Given the description of an element on the screen output the (x, y) to click on. 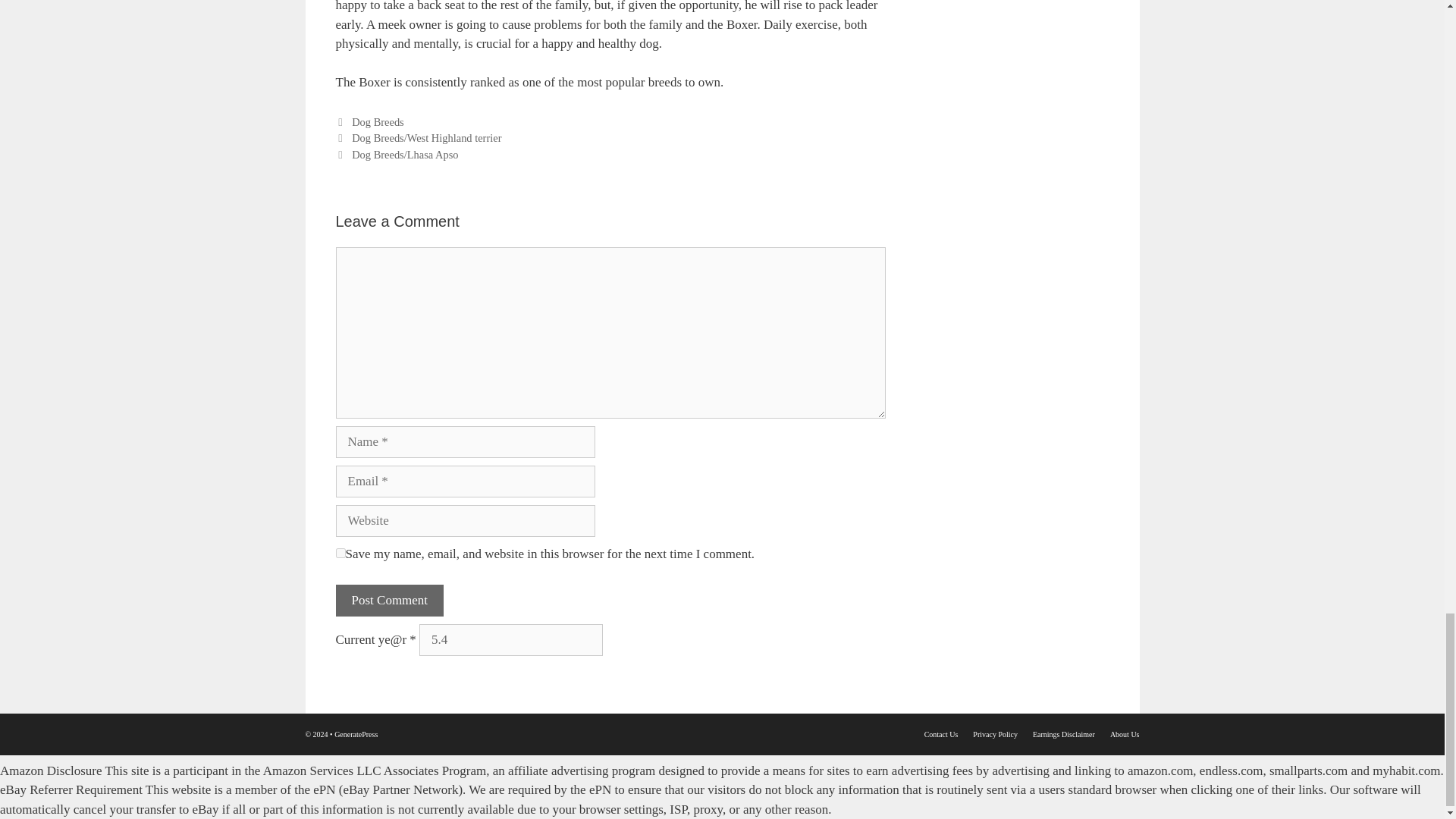
yes (339, 552)
Next (396, 154)
Previous (417, 137)
Dog Breeds (378, 121)
5.4 (510, 640)
Post Comment (389, 600)
